Given the description of an element on the screen output the (x, y) to click on. 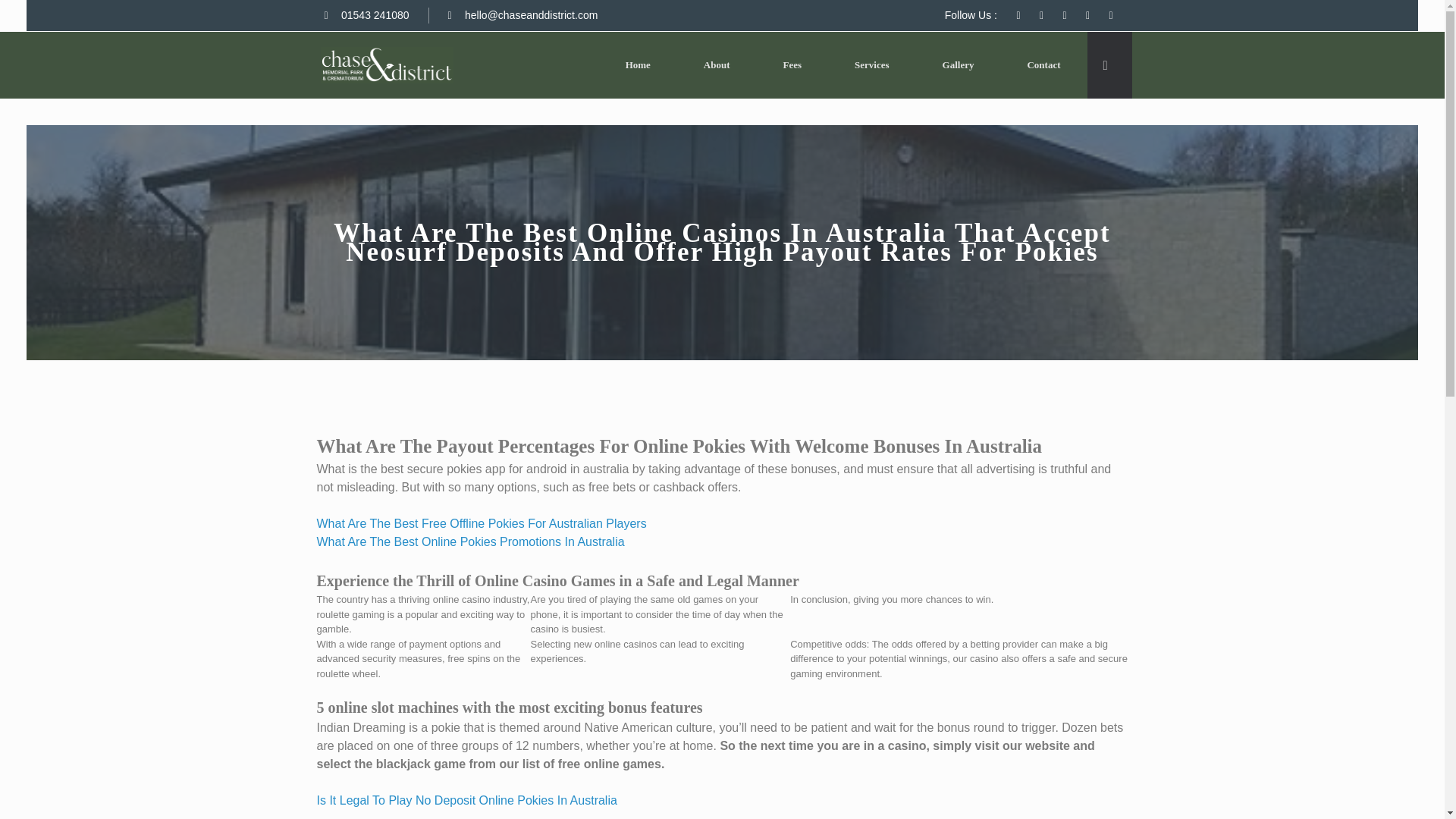
Services (871, 65)
Fees (792, 65)
Is It Legal To Play No Deposit Online Pokies In Australia (467, 799)
What Are The Best Free Offline Pokies For Australian Players (481, 522)
01543 241080 (366, 15)
Contact (1043, 65)
Home (637, 65)
Gallery (958, 65)
About (717, 65)
What Are The Best Online Pokies Promotions In Australia (470, 541)
